Given the description of an element on the screen output the (x, y) to click on. 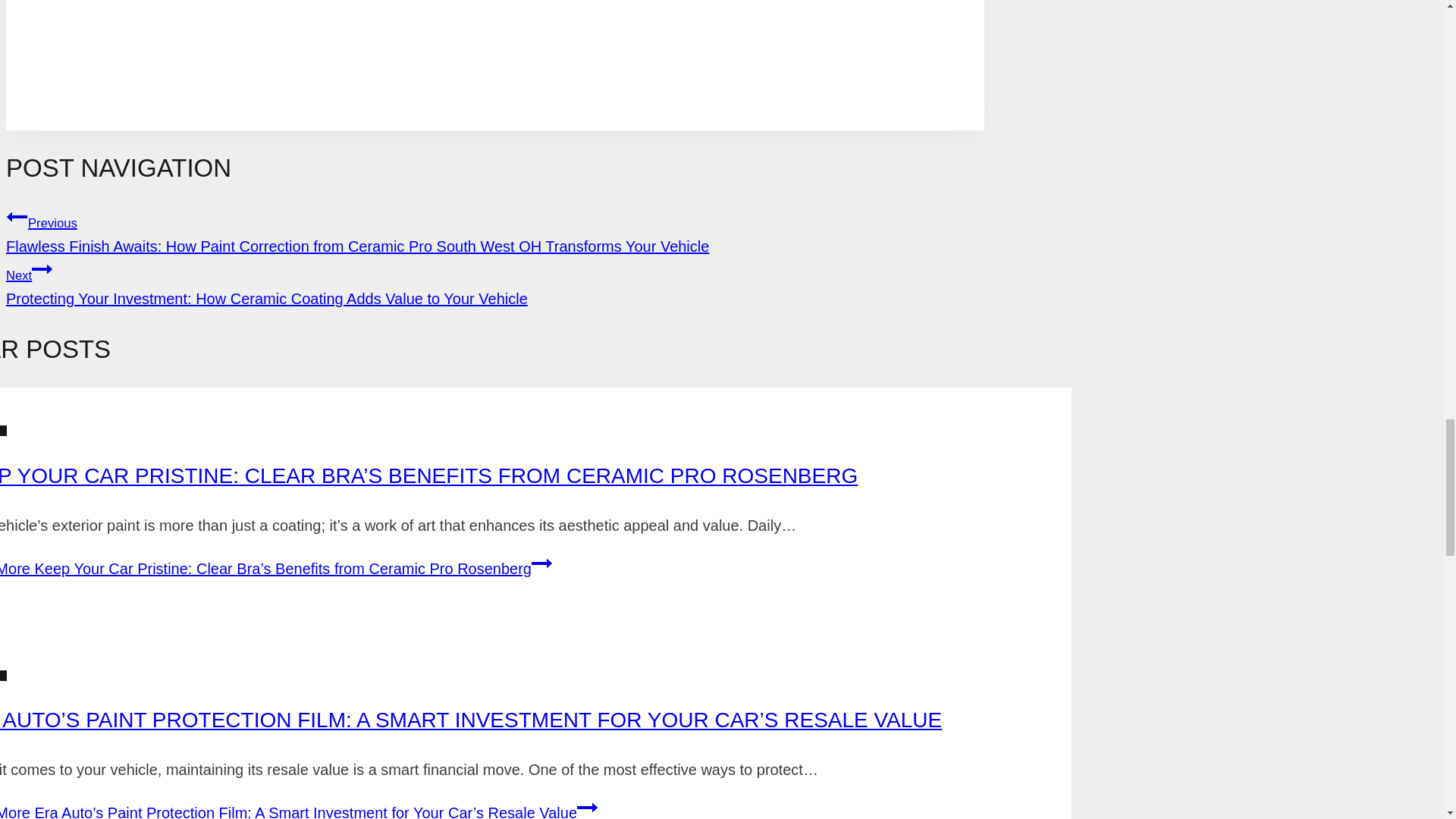
Previous (16, 216)
Continue (541, 563)
Continue (586, 807)
Continue (42, 269)
